Given the description of an element on the screen output the (x, y) to click on. 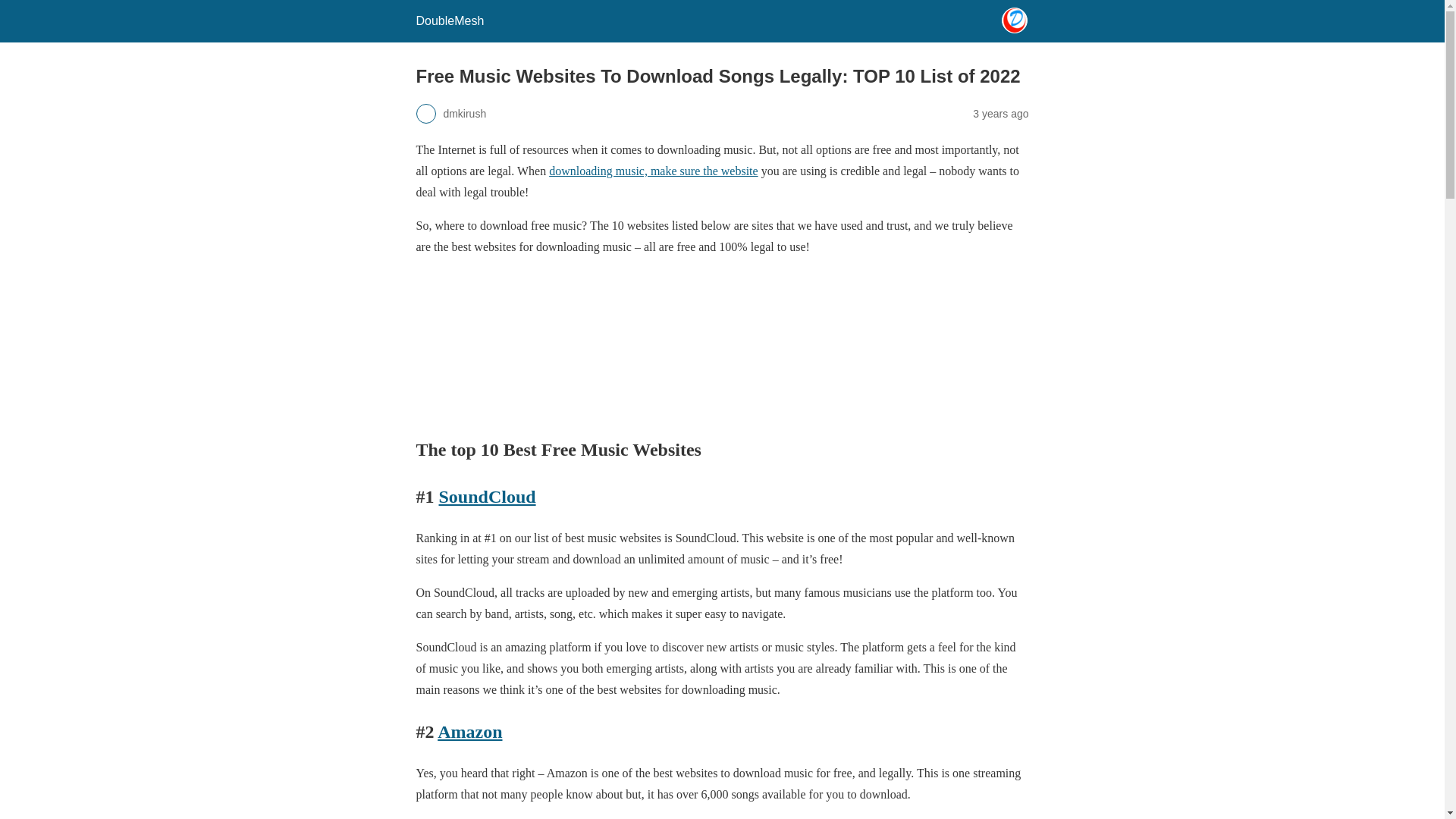
DoubleMesh (448, 20)
downloading music, make sure the website (653, 170)
SoundCloud (486, 496)
Amazon (470, 731)
3rd party ad content (721, 345)
